Given the description of an element on the screen output the (x, y) to click on. 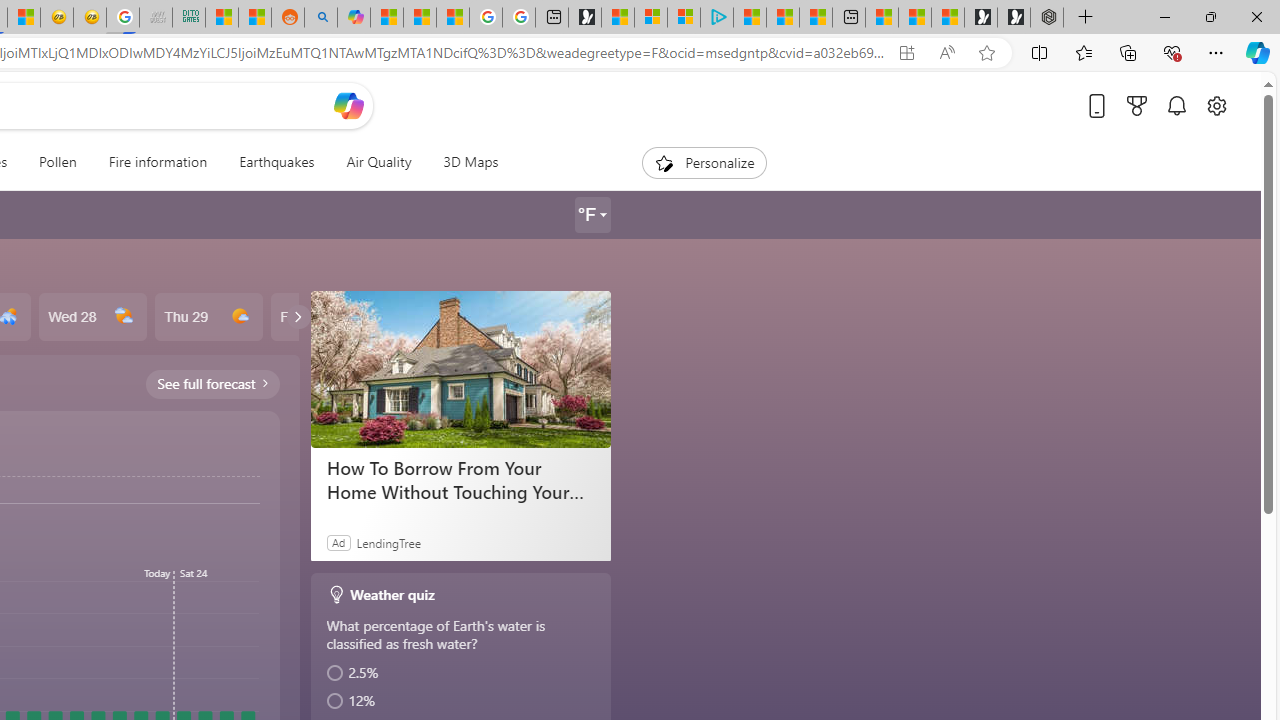
3D Maps (470, 162)
Thu 29 (207, 317)
Fire information (158, 162)
Earthquakes (276, 162)
